Given the description of an element on the screen output the (x, y) to click on. 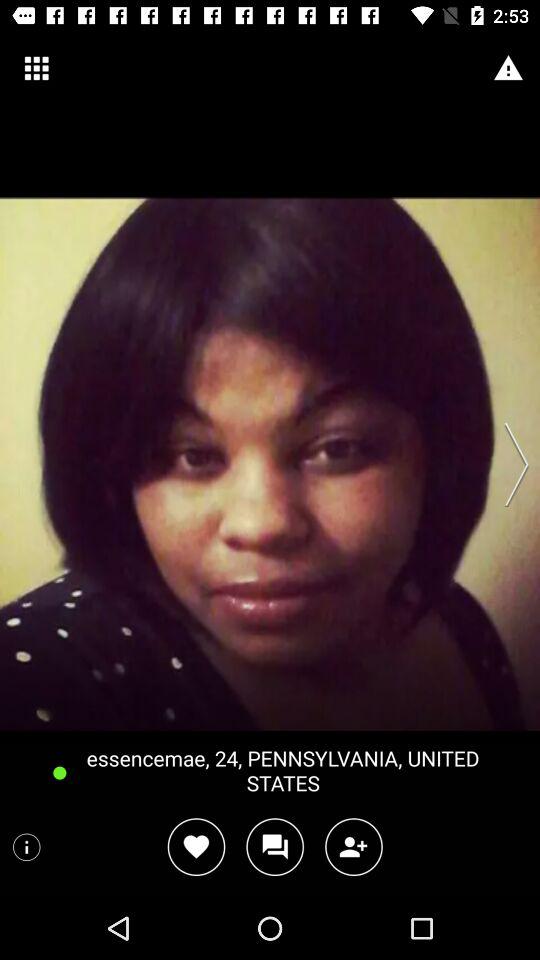
next photo (510, 464)
